Given the description of an element on the screen output the (x, y) to click on. 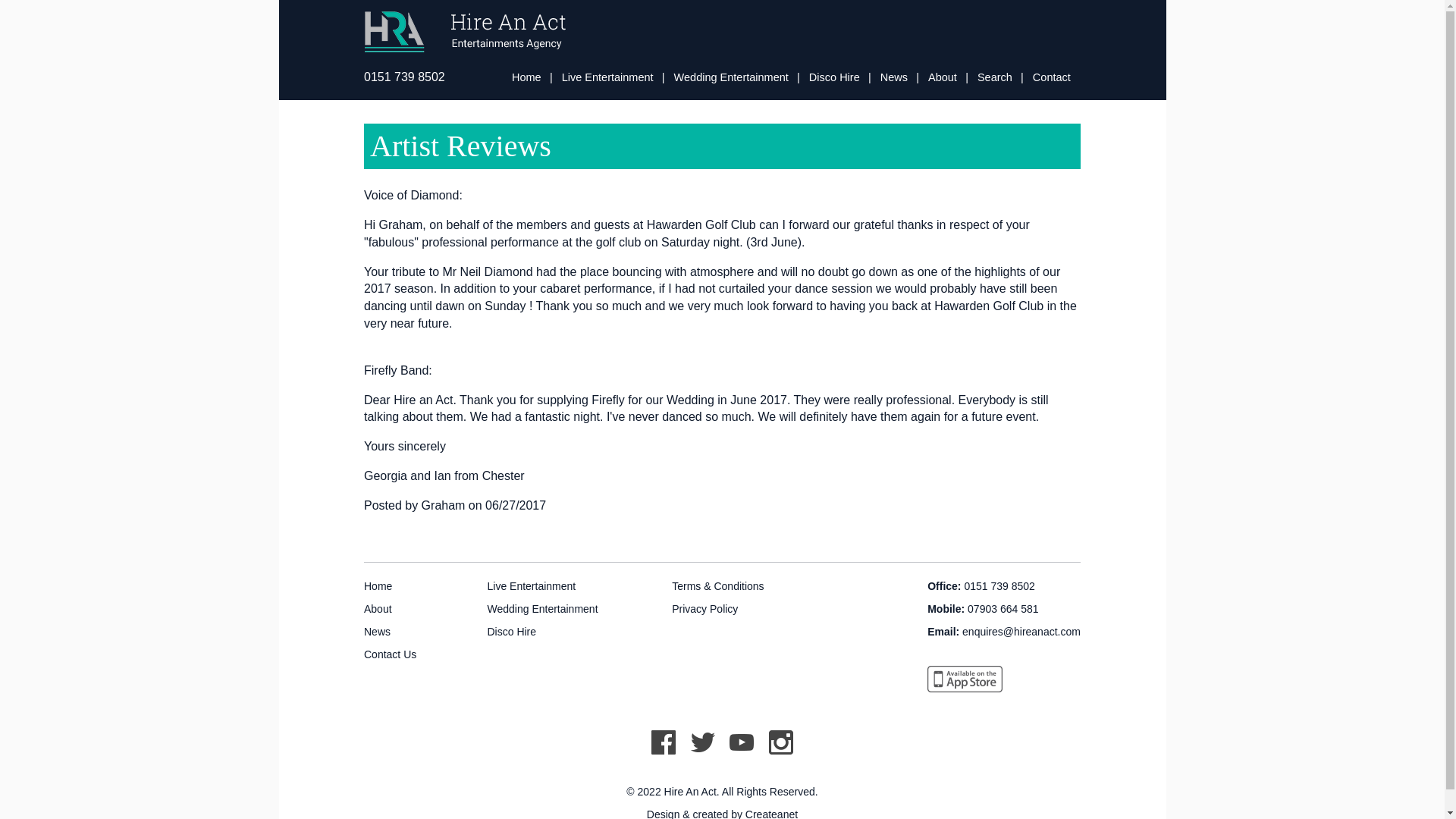
Privacy Policy (704, 608)
Disco Hire (834, 77)
Home (377, 585)
Wedding Entertainment (731, 77)
Search (993, 77)
Wedding Entertainment (541, 608)
News (893, 77)
Disco Hire (834, 77)
Live Entertainment (530, 585)
Wedding Entertainment (541, 608)
